Given the description of an element on the screen output the (x, y) to click on. 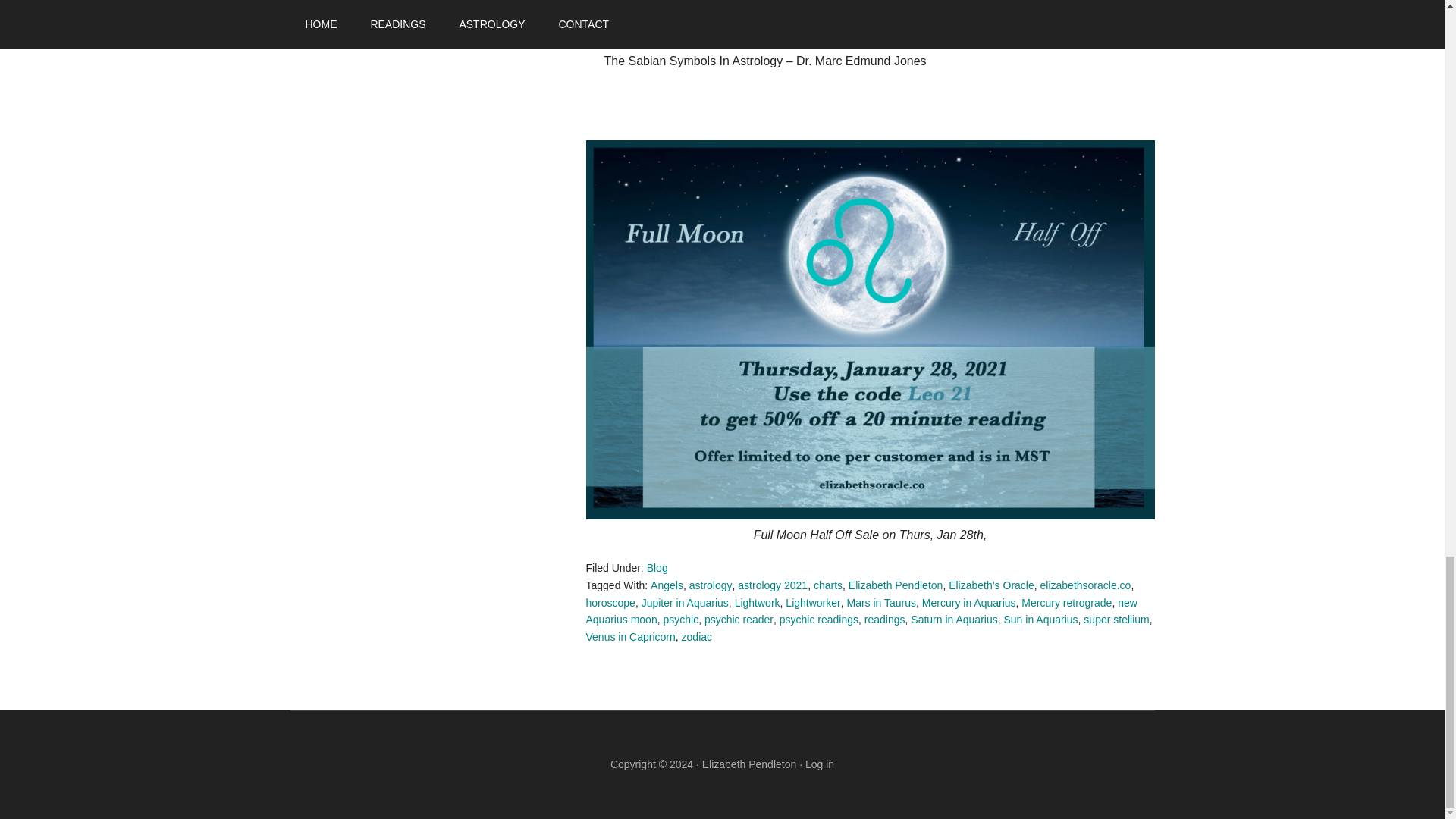
astrology (710, 585)
zodiac (696, 636)
psychic readings (818, 619)
Venus in Capricorn (630, 636)
Mars in Taurus (880, 603)
super stellium (1115, 619)
charts (828, 585)
Elizabeth Pendleton (895, 585)
Mercury in Aquarius (968, 603)
horoscope (609, 603)
